Given the description of an element on the screen output the (x, y) to click on. 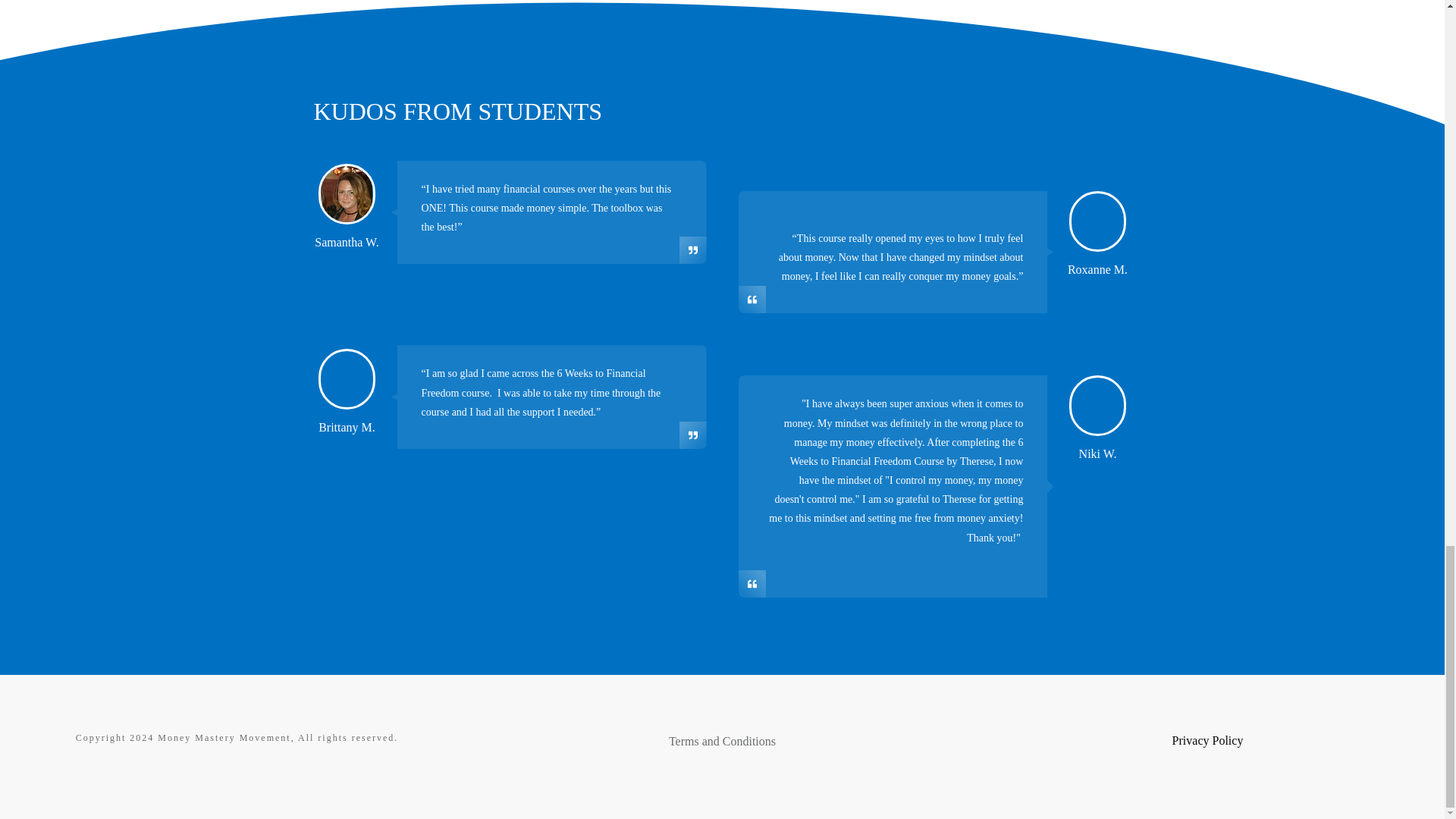
Niki Wiltshire (1096, 405)
Terms and Conditions (722, 740)
roxanne marcum (1096, 221)
brittany (346, 379)
Privacy Policy (1207, 739)
samantha wagner (346, 193)
